Given the description of an element on the screen output the (x, y) to click on. 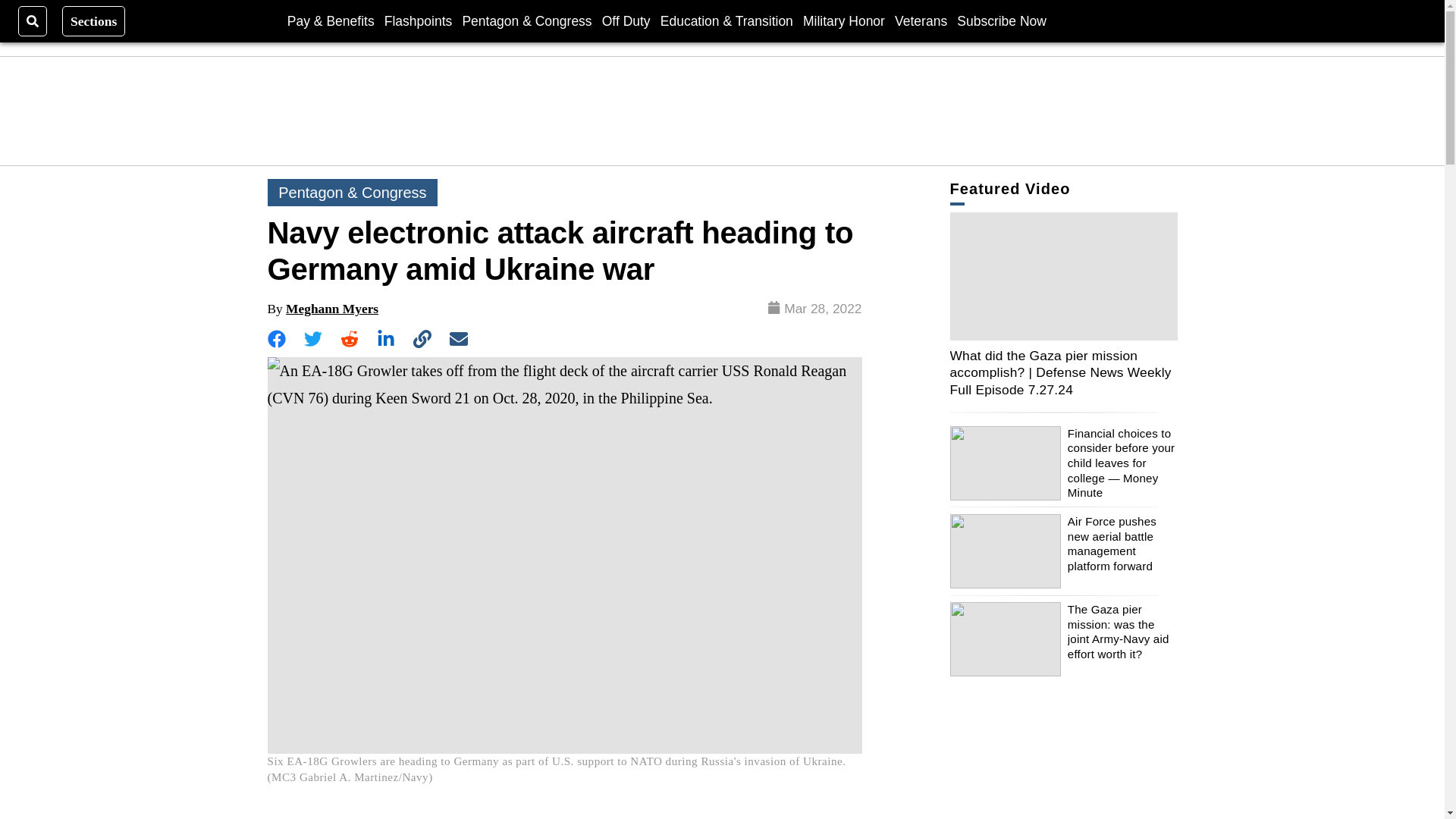
Flashpoints (418, 20)
Veterans (921, 20)
Sections (93, 20)
Off Duty (626, 20)
Military Honor (844, 20)
